Given the description of an element on the screen output the (x, y) to click on. 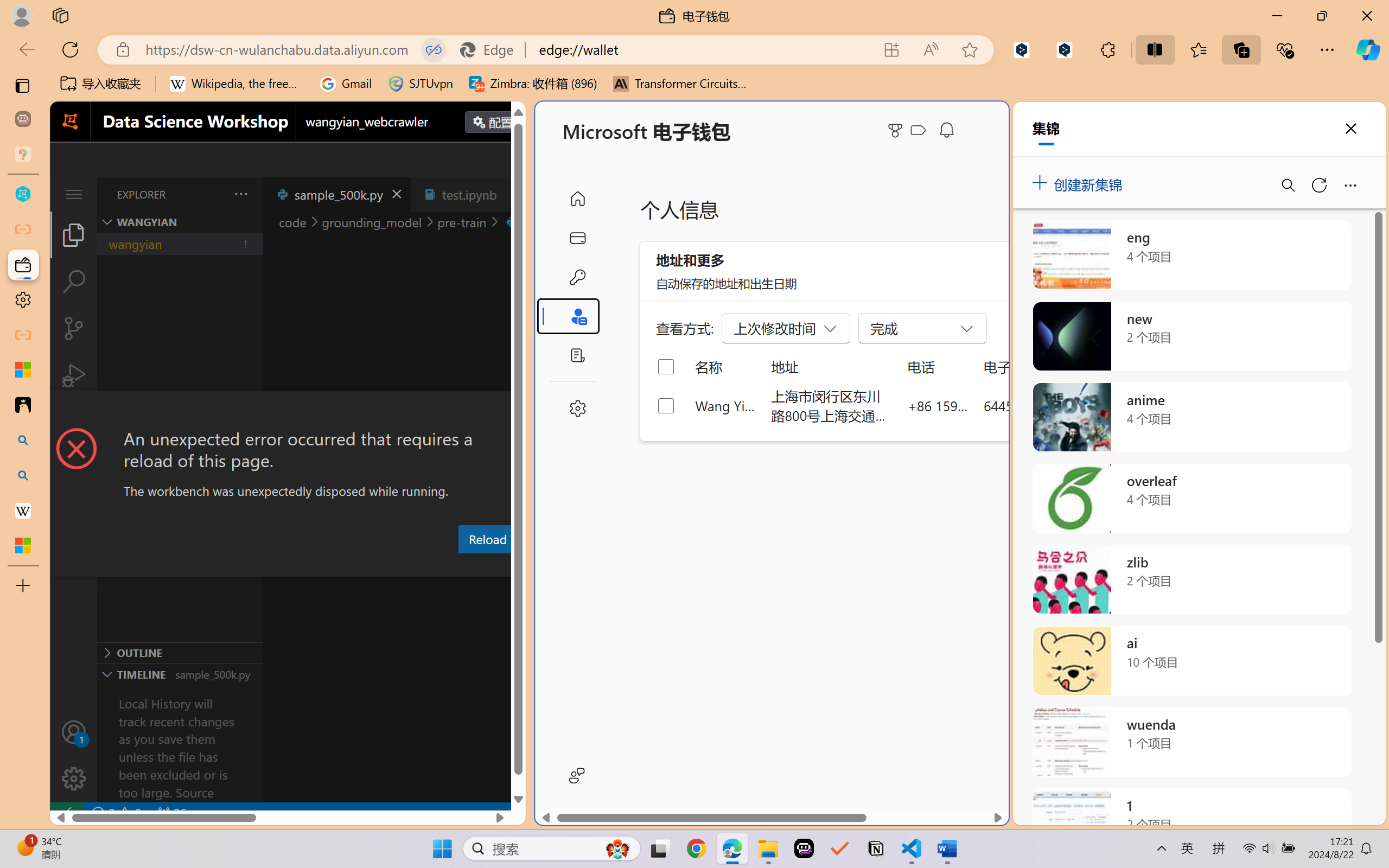
Gmail (345, 83)
Outline Section (179, 652)
